Given the description of an element on the screen output the (x, y) to click on. 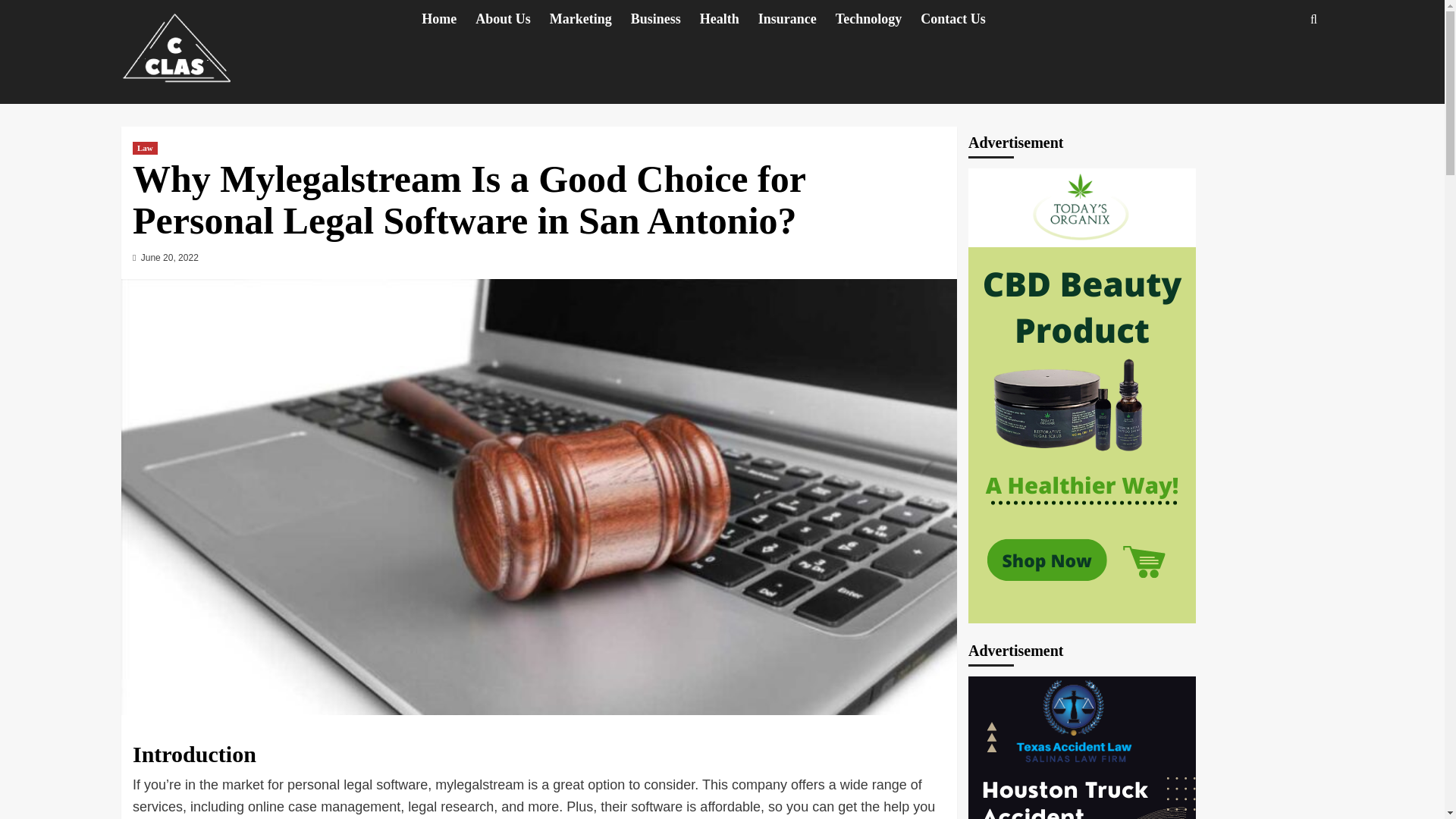
June 20, 2022 (169, 257)
Business (665, 19)
Insurance (796, 19)
Marketing (590, 19)
Search (1278, 65)
Law (144, 147)
Contact Us (962, 19)
Health (729, 19)
About Us (513, 19)
Home (449, 19)
